Given the description of an element on the screen output the (x, y) to click on. 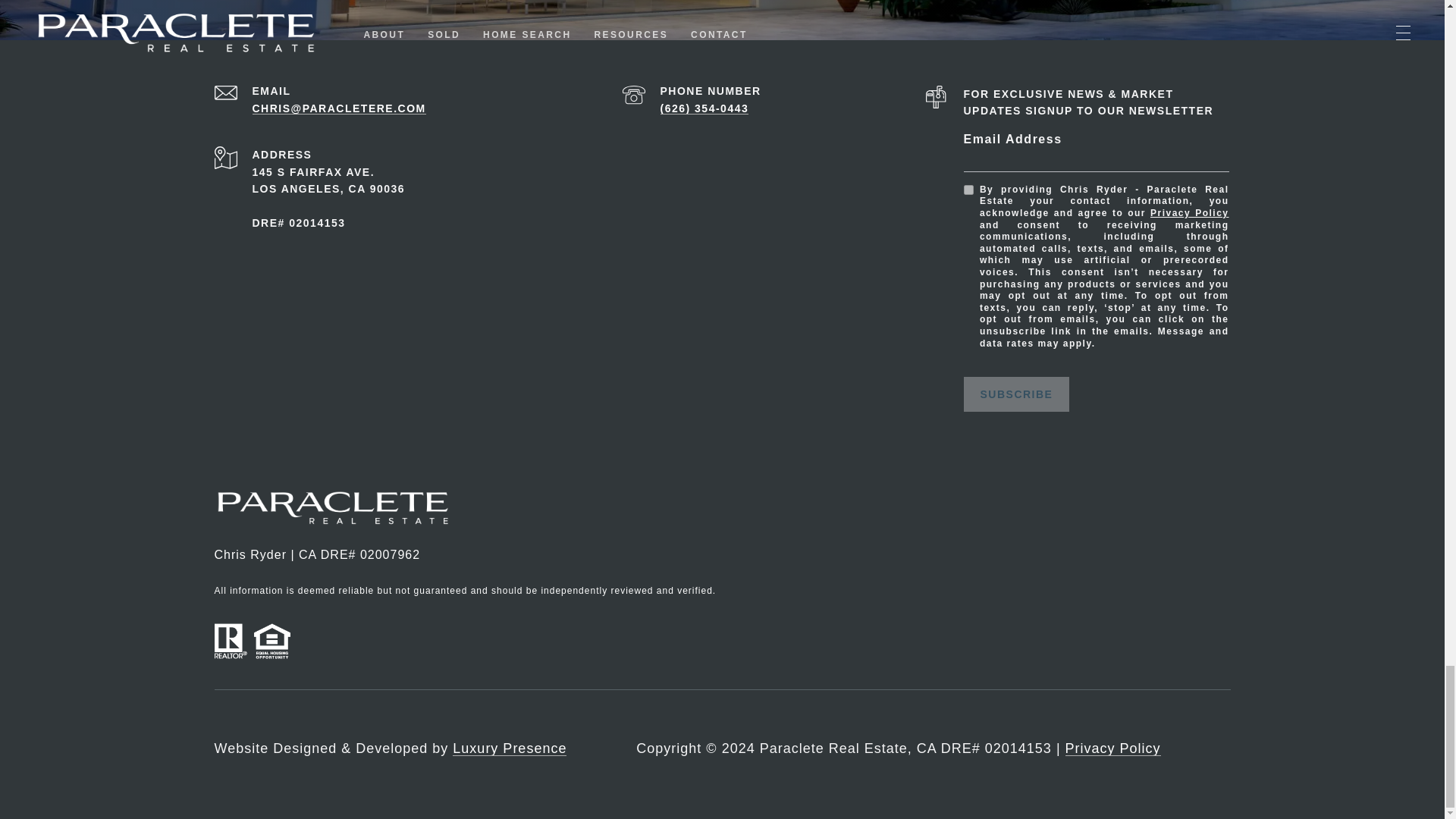
on (967, 189)
